Given the description of an element on the screen output the (x, y) to click on. 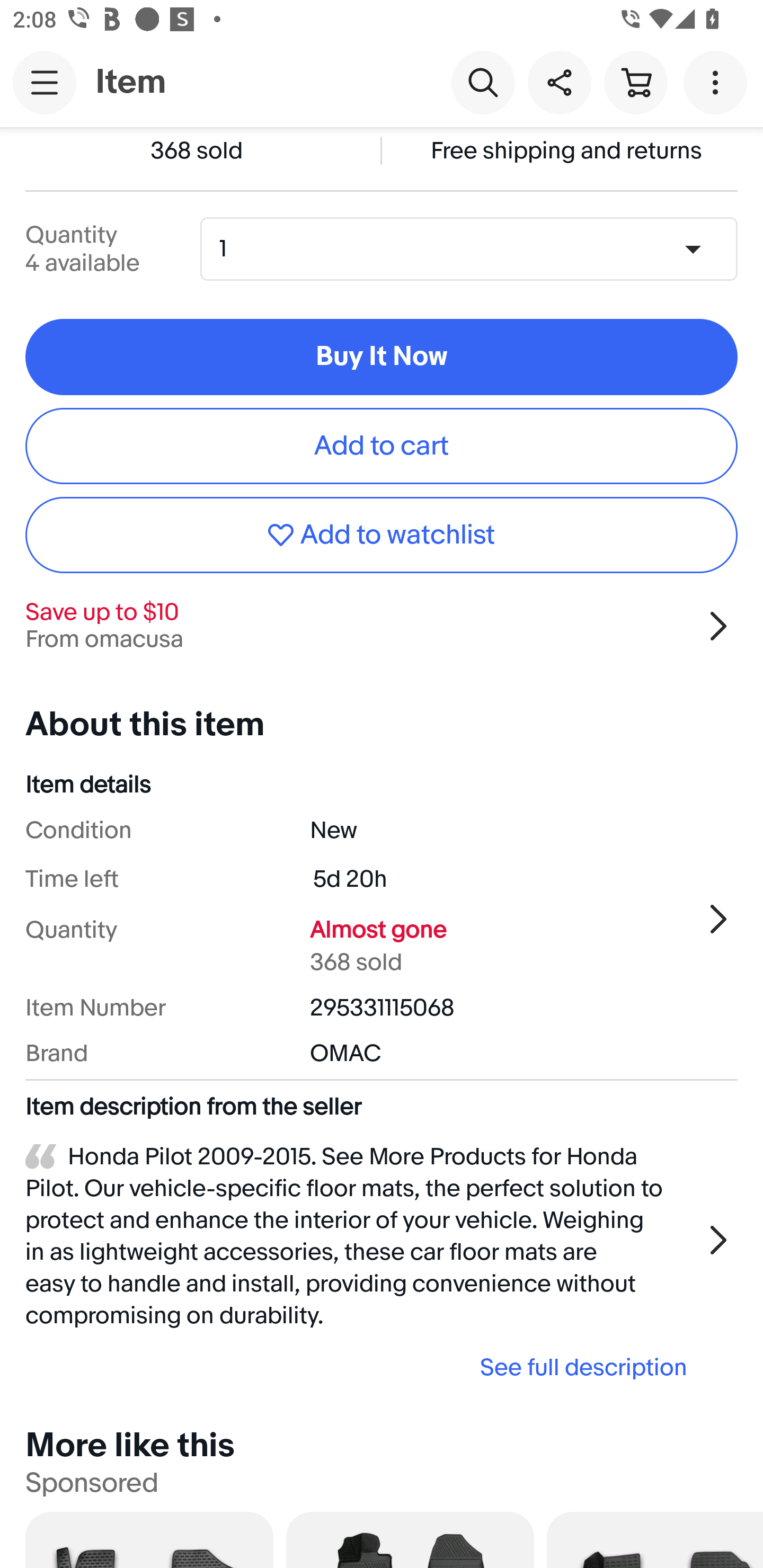
Main navigation, open (44, 82)
Search (482, 81)
Share this item (559, 81)
Cart button shopping cart (635, 81)
More options (718, 81)
Quantity,1,4 available 1 (474, 249)
Buy It Now (381, 356)
Add to cart (381, 445)
Add to watchlist (381, 535)
Save up to $10 From omacusa (381, 625)
See full description (362, 1366)
